Given the description of an element on the screen output the (x, y) to click on. 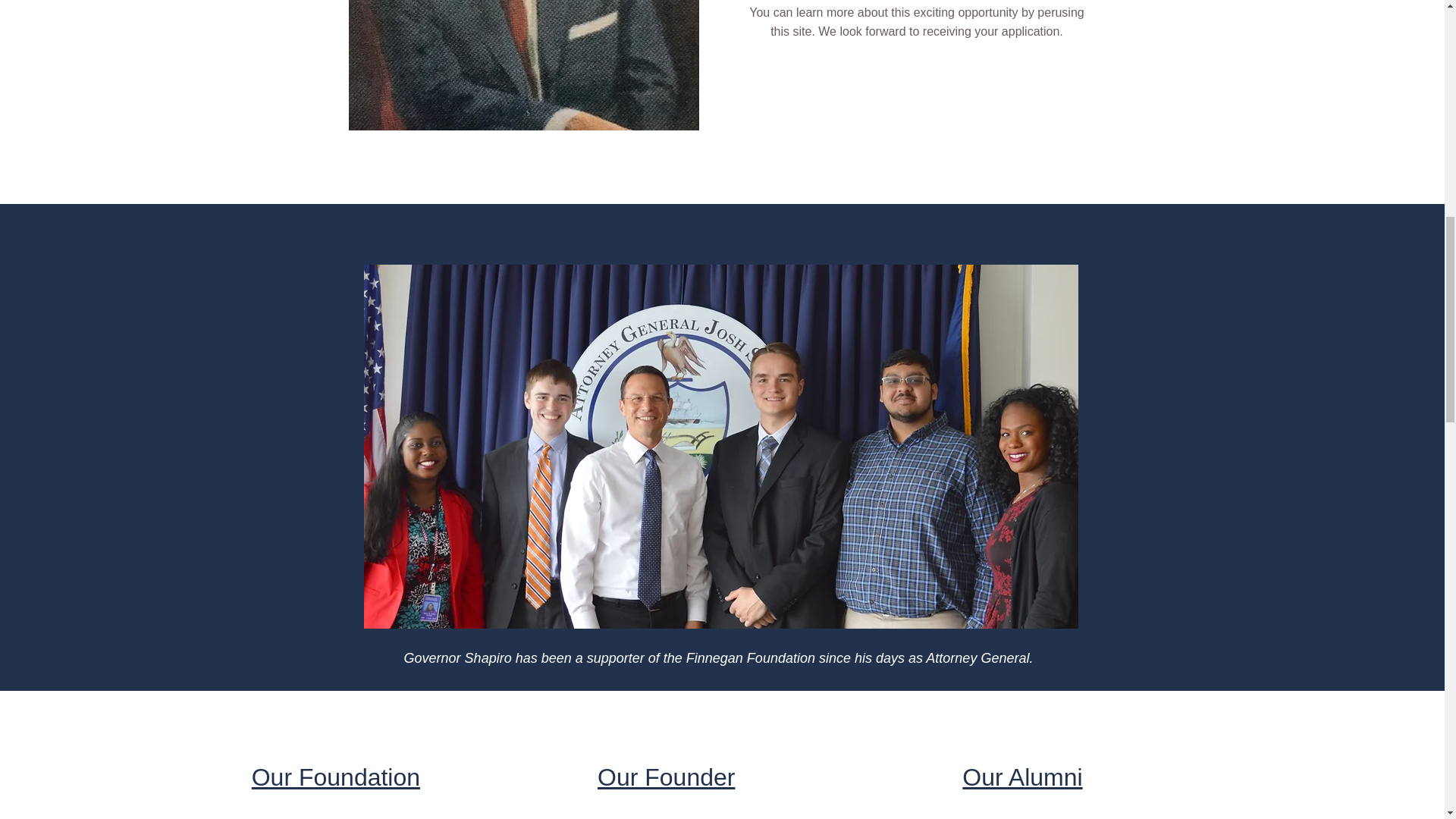
Our Foundation (335, 777)
Our Alumni (1021, 777)
Our Founder (665, 777)
